Given the description of an element on the screen output the (x, y) to click on. 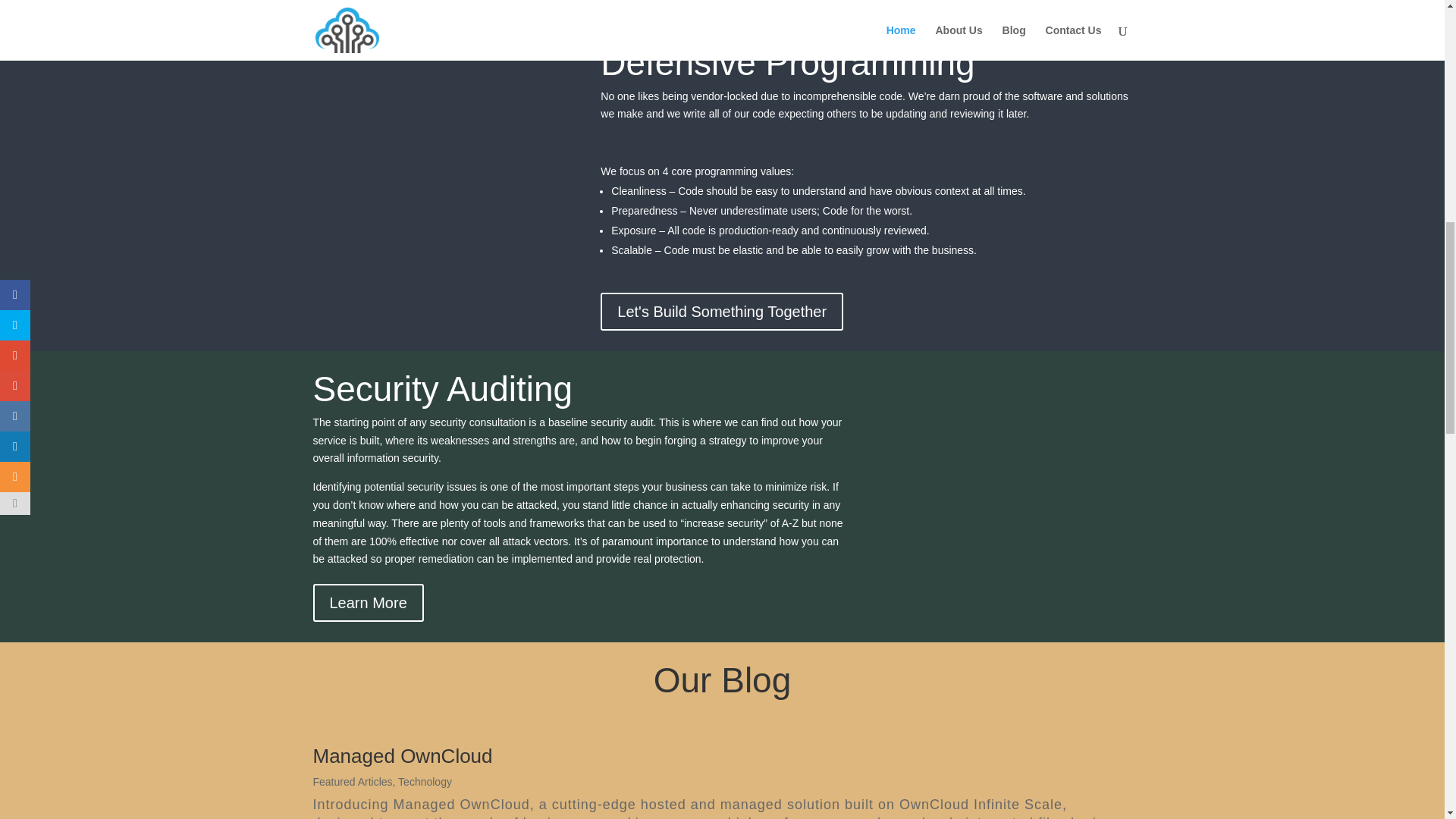
Let's Build Something Together (721, 311)
Learn More (368, 602)
Featured Articles (352, 781)
Managed OwnCloud (402, 755)
Learn More (368, 2)
Technology (424, 781)
